Given the description of an element on the screen output the (x, y) to click on. 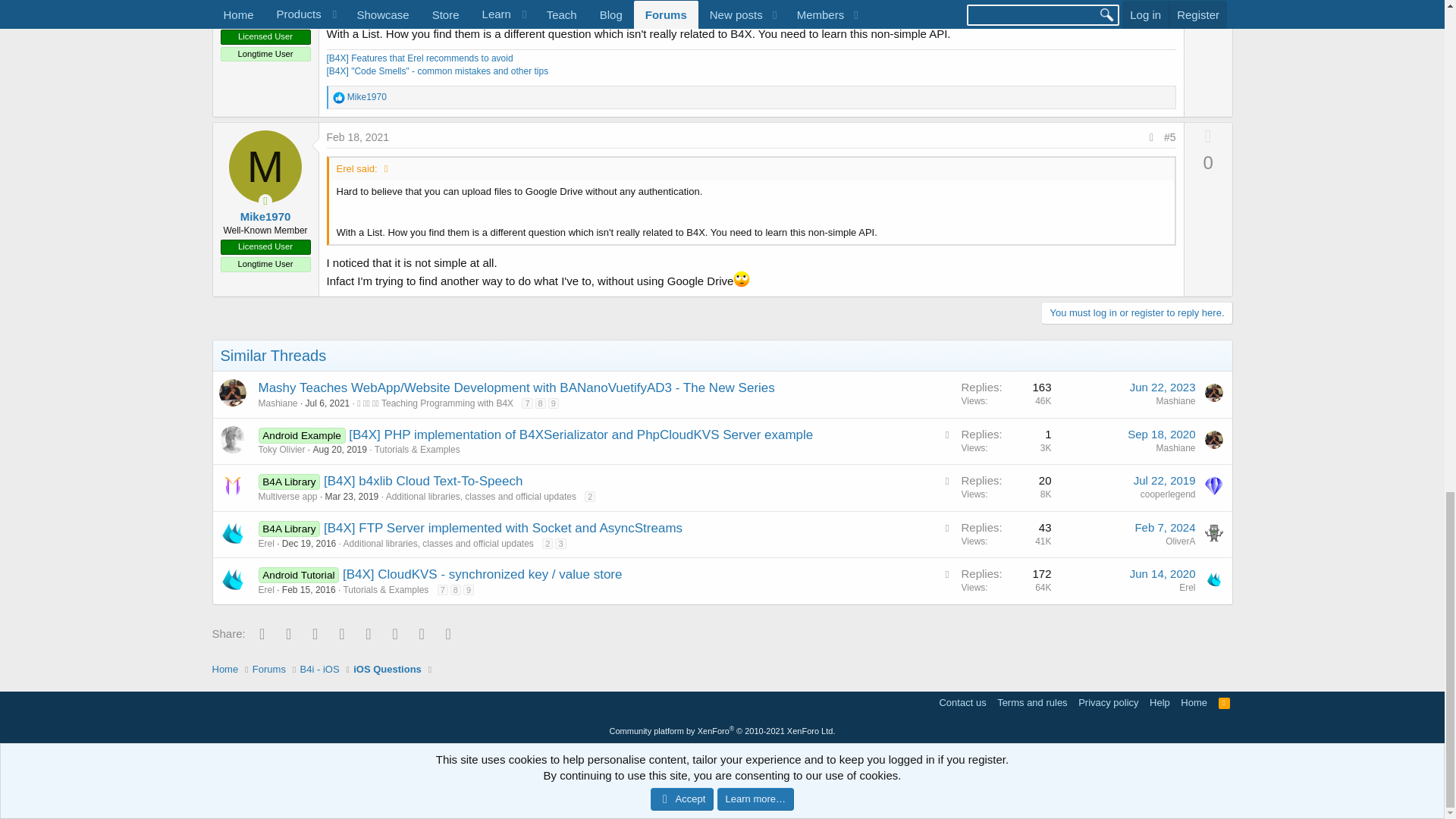
Aug 20, 2019 at 6:56 AM (339, 449)
Feb 18, 2021 at 4:37 PM (357, 137)
Roll Eyes    :rolleyes: (741, 279)
Jun 22, 2023 at 10:27 AM (1162, 386)
First message reaction score: 25 (1006, 394)
Article (946, 434)
First message reaction score: 20 (1006, 440)
Jul 6, 2021 at 8:11 PM (327, 403)
Like (337, 97)
